Given the description of an element on the screen output the (x, y) to click on. 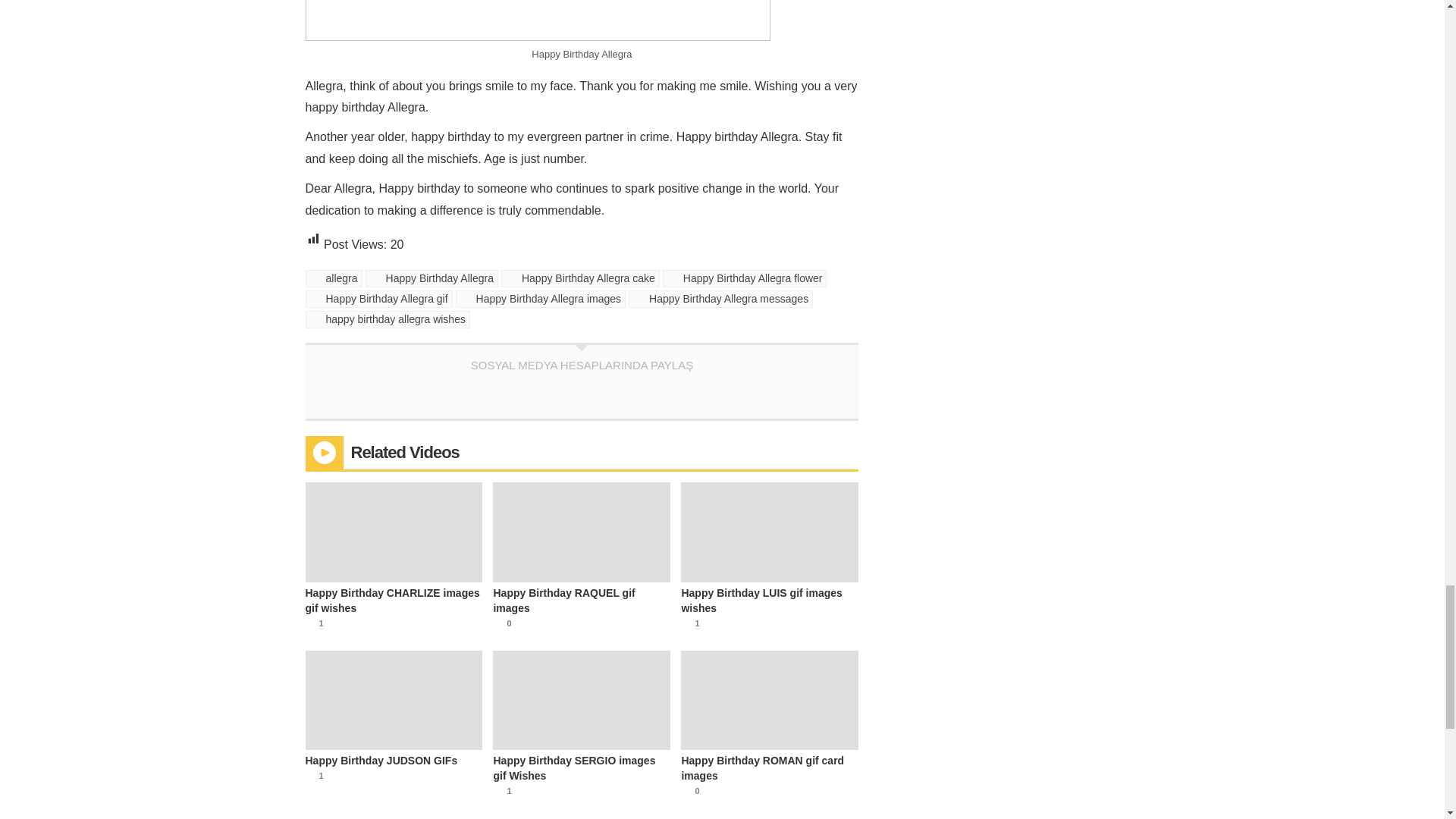
Happy Birthday CHARLIZE images gif wishes (392, 600)
Happy Birthday Allegra cake (579, 278)
Happy Birthday Allegra images (540, 298)
Happy Birthday Allegra (431, 278)
Happy Birthday Allegra messages (720, 298)
allegra (332, 278)
Happy Birthday Allegra gif (377, 298)
happy birthday allegra wishes (386, 319)
Happy Birthday Allegra flower (744, 278)
